Given the description of an element on the screen output the (x, y) to click on. 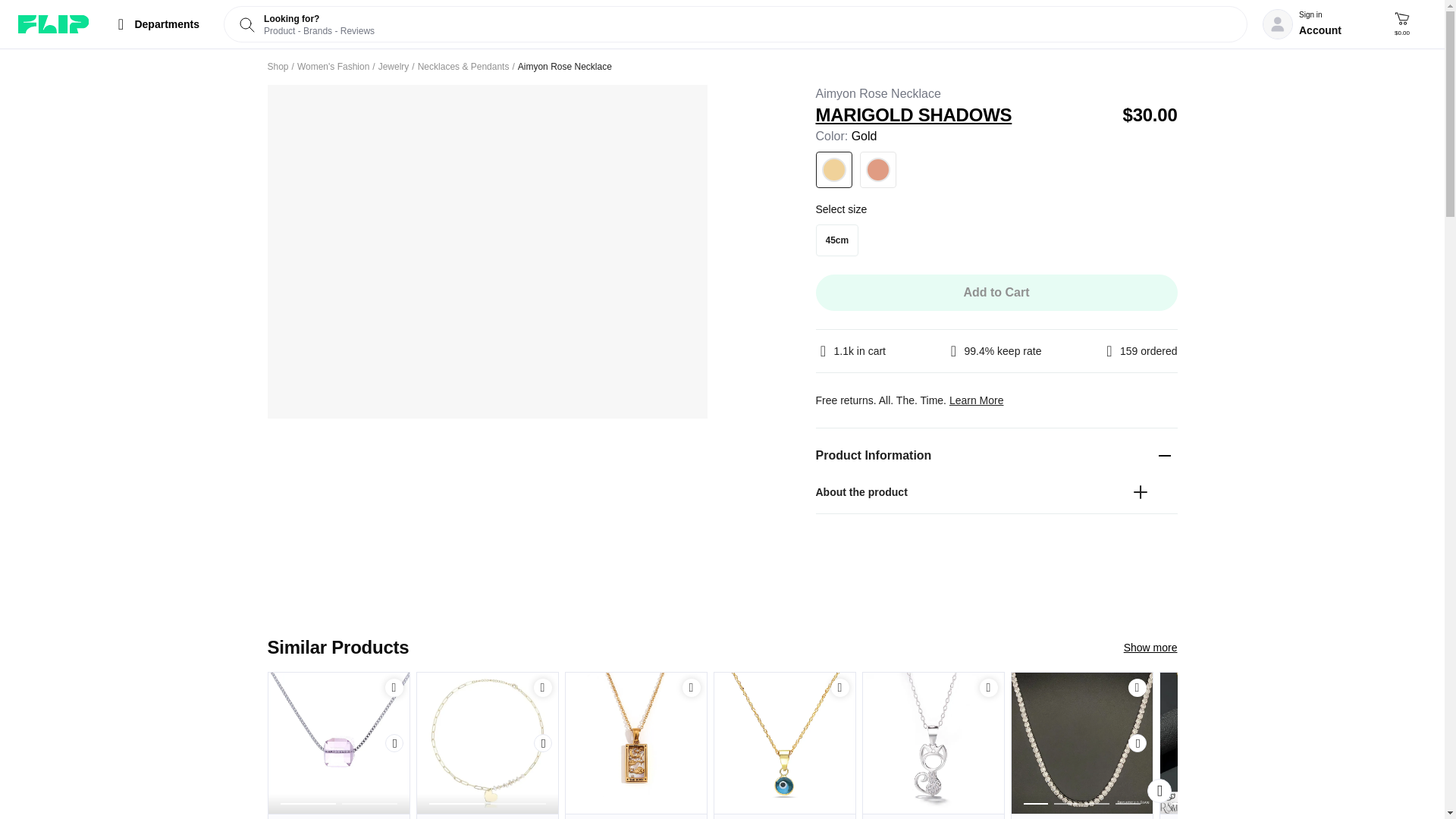
Jewelry (393, 66)
MARIGOLD SHADOWS (963, 115)
Add to Cart (691, 687)
Marigold Shadows (963, 115)
Add to Cart (988, 687)
Add to Cart (691, 687)
Flip feed (52, 24)
14K Gold Evil Eye Charm Necklace (785, 816)
Add to Cart (996, 292)
